Given the description of an element on the screen output the (x, y) to click on. 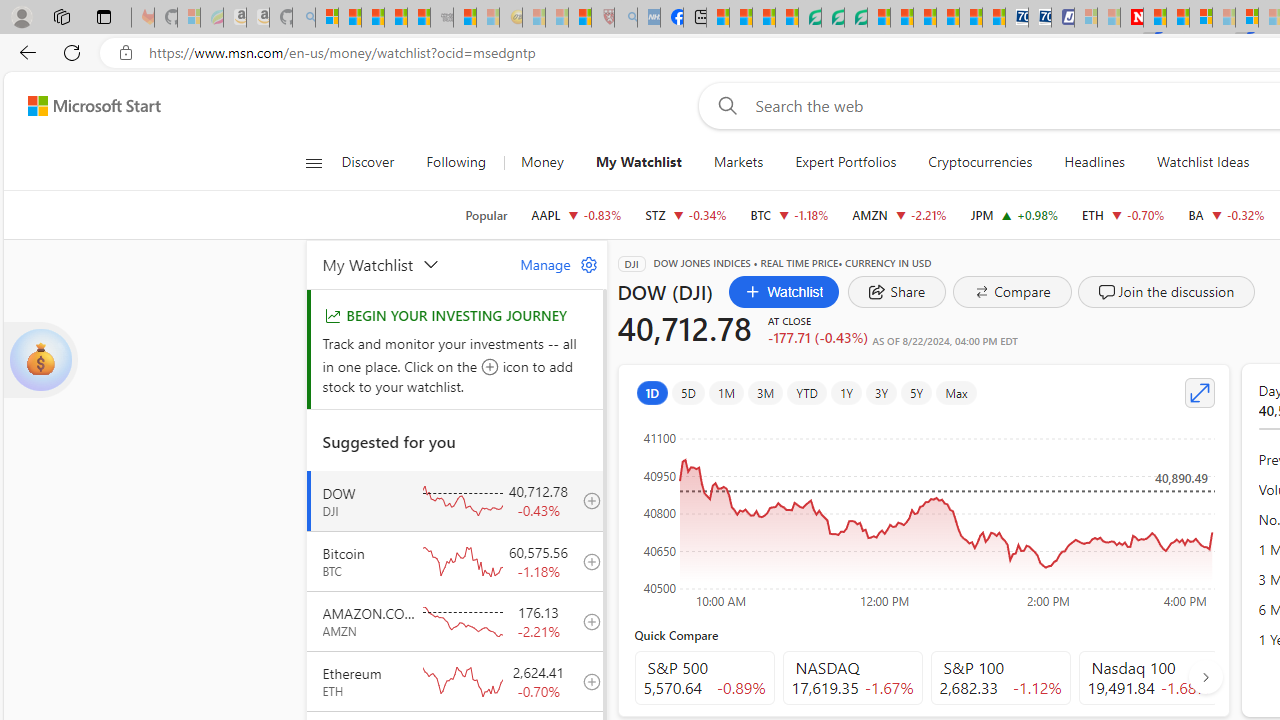
AutomationID: finance_carousel_navi_right (1204, 677)
show card (40, 359)
Microsoft Word - consumer-privacy address update 2.2021 (855, 17)
AMZN AMAZON.COM, INC. decrease 176.13 -3.98 -2.21% (898, 214)
1Y (845, 392)
BA THE BOEING COMPANY decrease 172.87 -0.56 -0.32% (1226, 214)
add to your watchlist (586, 681)
STZ CONSTELLATION BRANDS, INC. decrease 243.92 -0.82 -0.34% (685, 214)
